Given the description of an element on the screen output the (x, y) to click on. 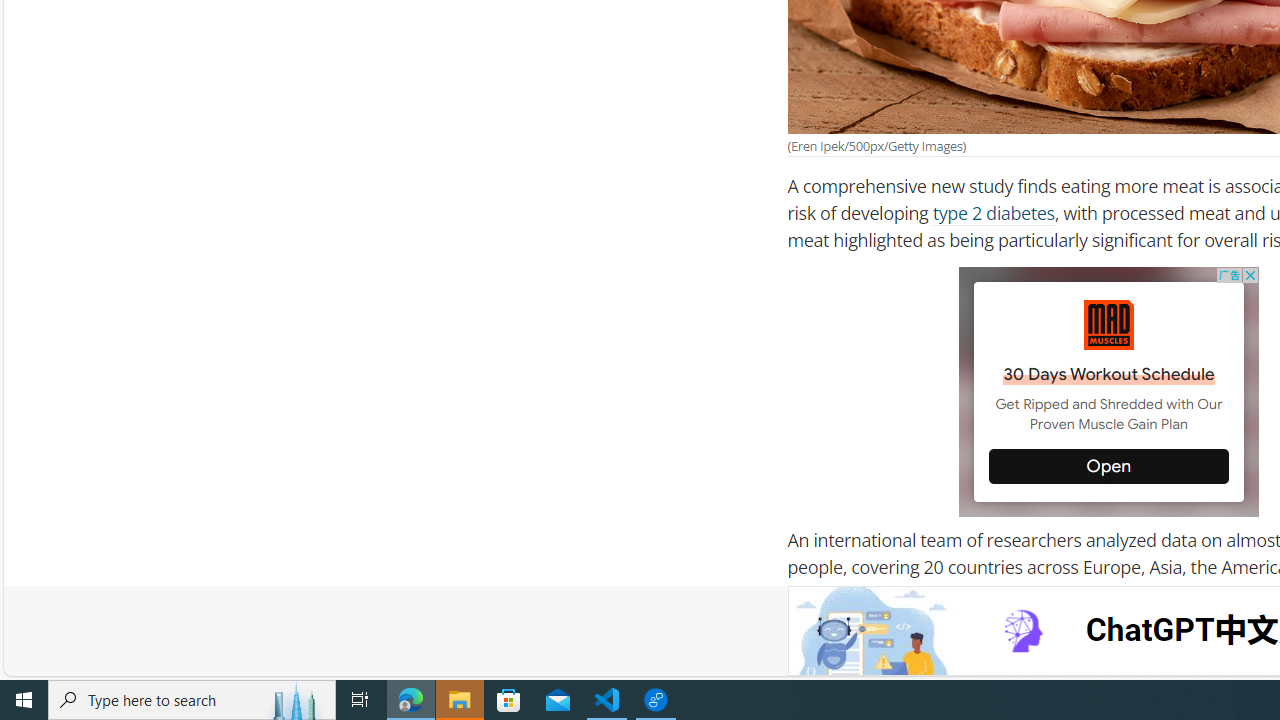
 processed meat (936, 660)
type 2 diabetes (992, 213)
